Given the description of an element on the screen output the (x, y) to click on. 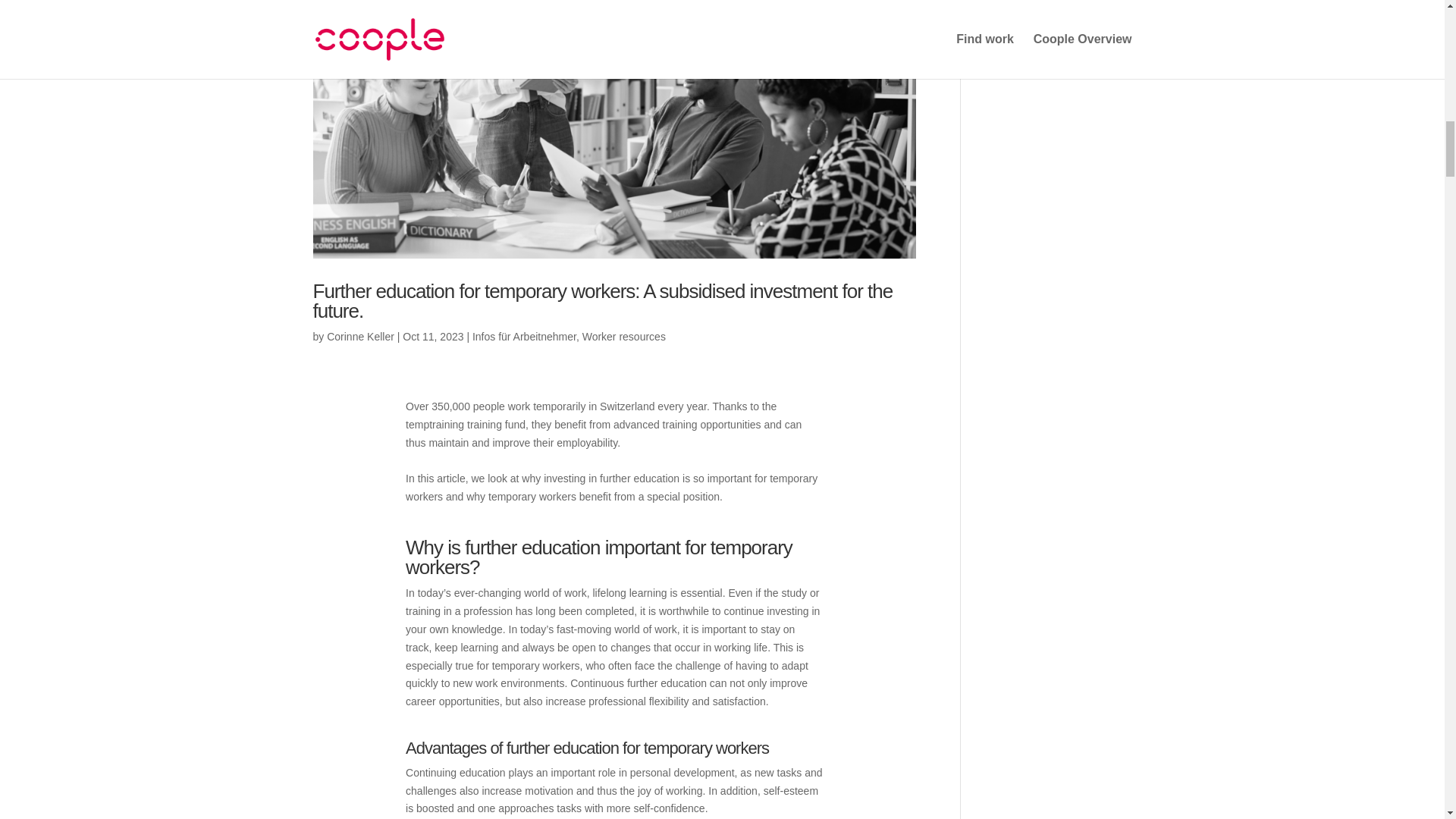
Corinne Keller (360, 336)
Worker resources (623, 336)
Posts by Corinne Keller (360, 336)
